Given the description of an element on the screen output the (x, y) to click on. 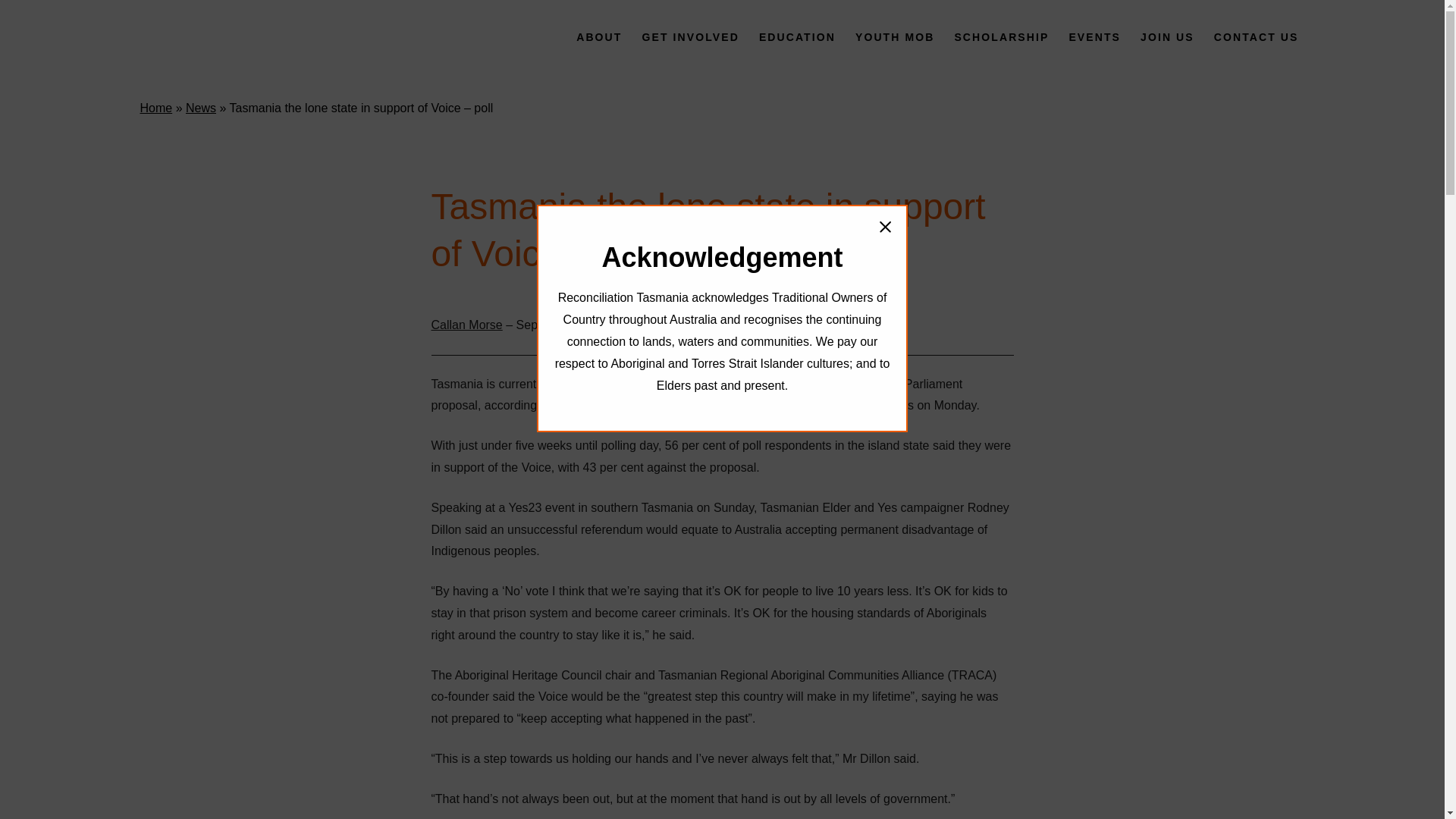
GET INVOLVED (689, 36)
ABOUT (598, 36)
EDUCATION (796, 36)
JOIN US (1166, 36)
EVENTS (1094, 36)
YOUTH MOB (894, 36)
SCHOLARSHIP (1000, 36)
CONTACT US (1256, 36)
